Given the description of an element on the screen output the (x, y) to click on. 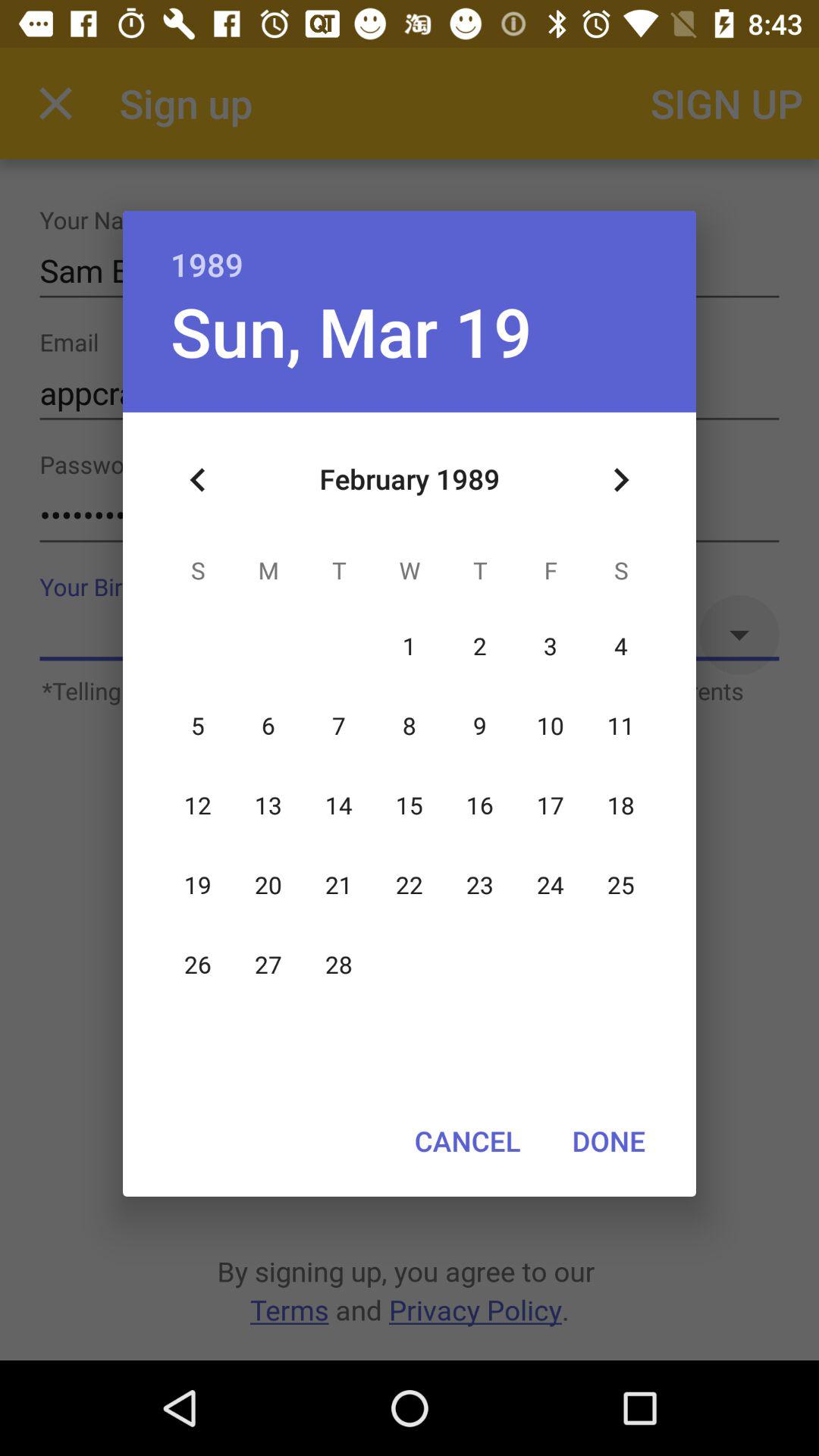
tap item above sun, mar 19 icon (409, 248)
